Given the description of an element on the screen output the (x, y) to click on. 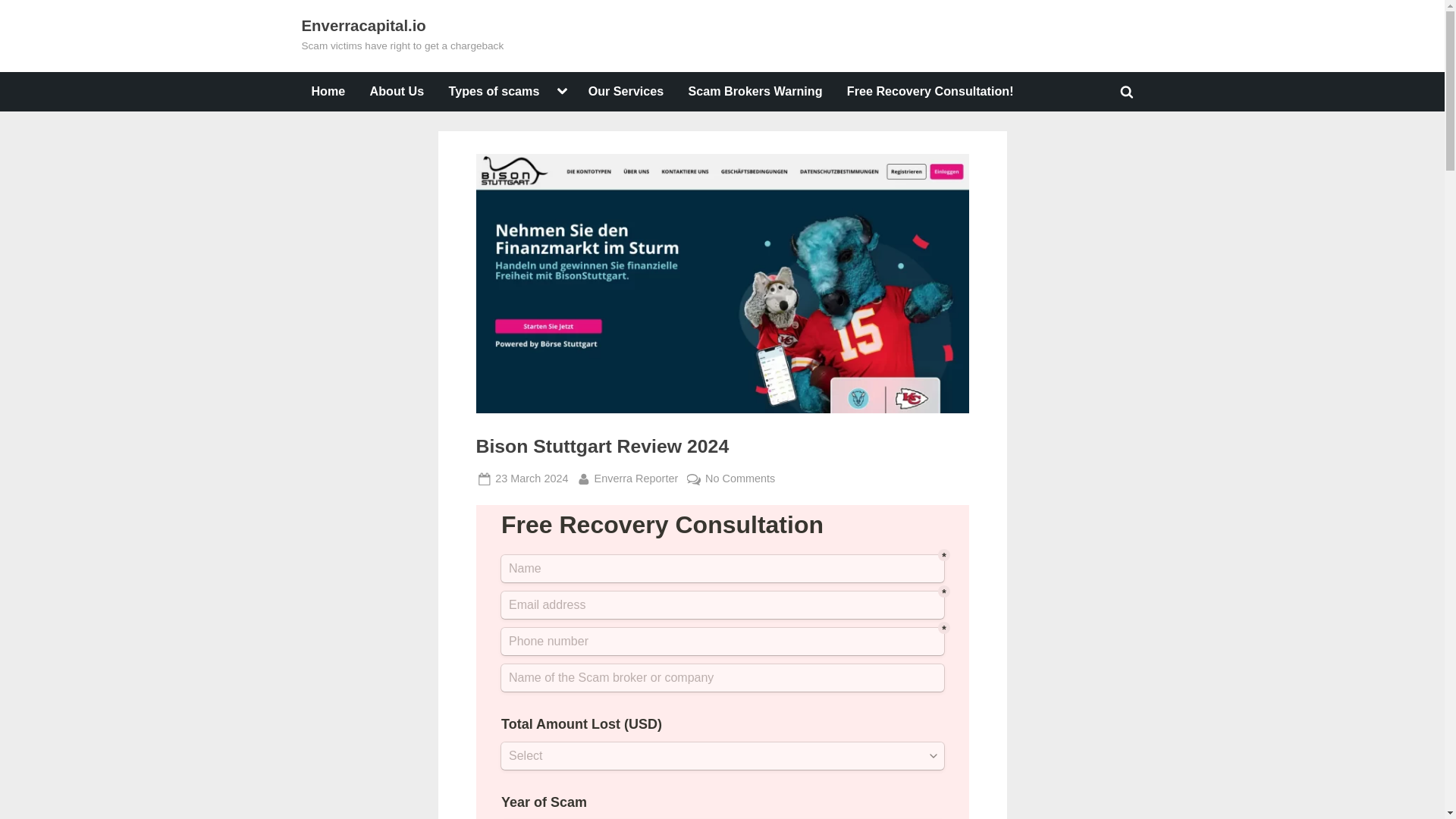
Toggle sub-menu (561, 91)
Toggle search form (1126, 91)
Enverracapital.io (363, 25)
Home (739, 478)
Enverra Capital - Free Recovery Consultation (328, 91)
Types of scams (396, 91)
Our Services (494, 91)
Free Recovery Consultation! (625, 91)
